Given the description of an element on the screen output the (x, y) to click on. 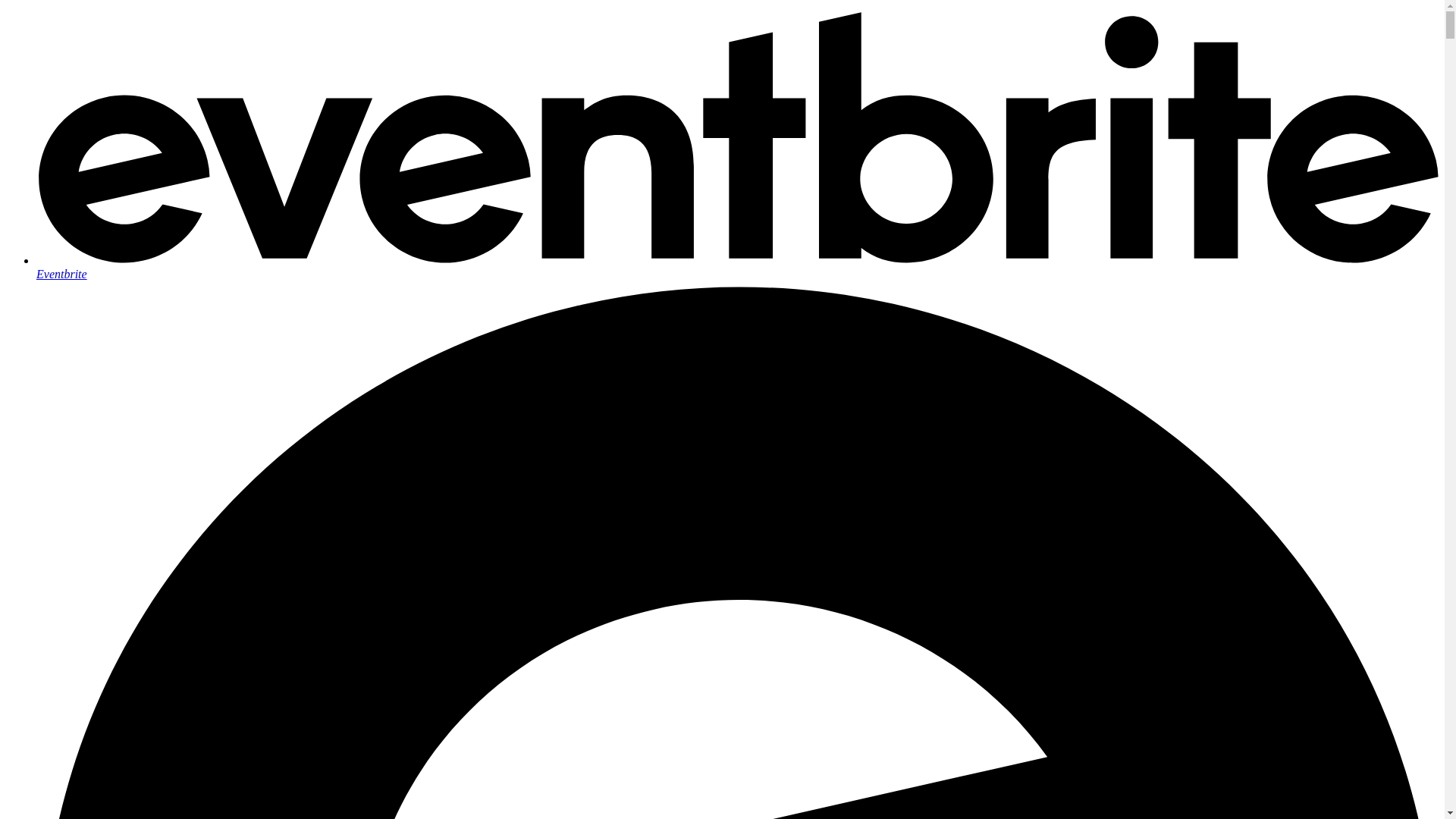
Eventbrite Element type: text (737, 267)
